Given the description of an element on the screen output the (x, y) to click on. 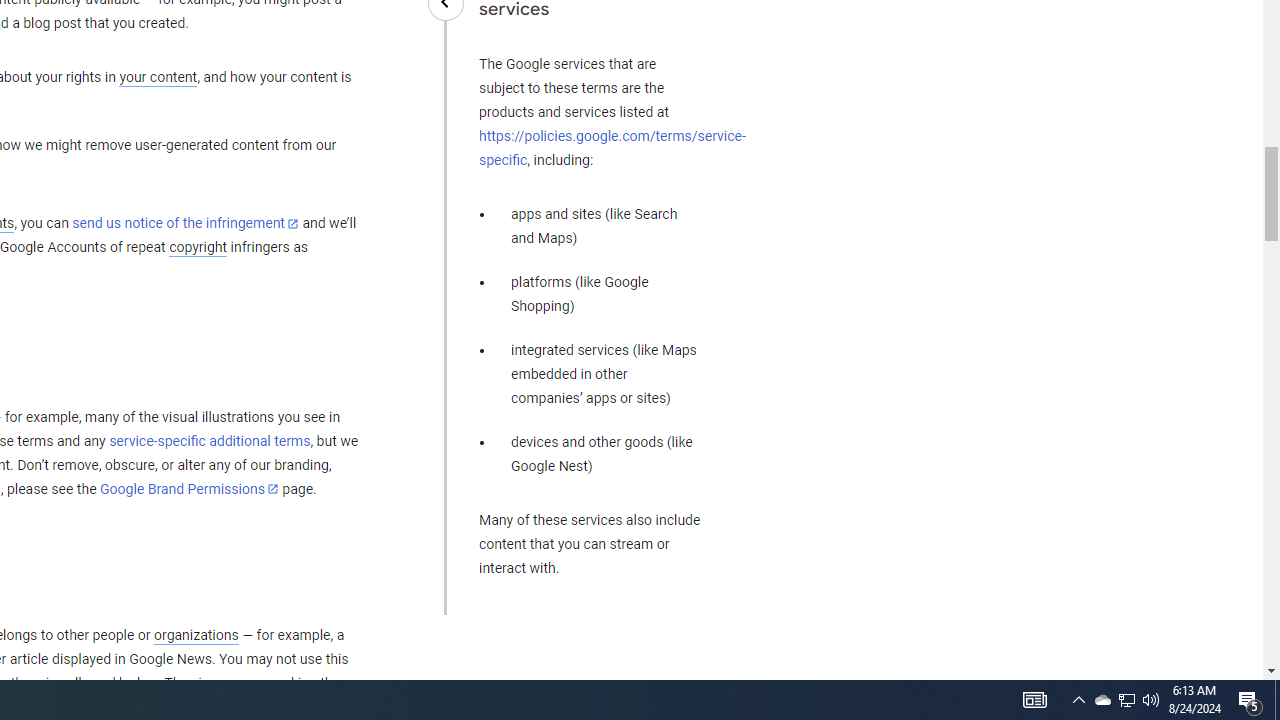
https://policies.google.com/terms/service-specific (612, 148)
Google Brand Permissions (189, 489)
copyright (197, 248)
service-specific additional terms (209, 441)
your content (158, 78)
send us notice of the infringement (185, 224)
organizations (196, 635)
